Given the description of an element on the screen output the (x, y) to click on. 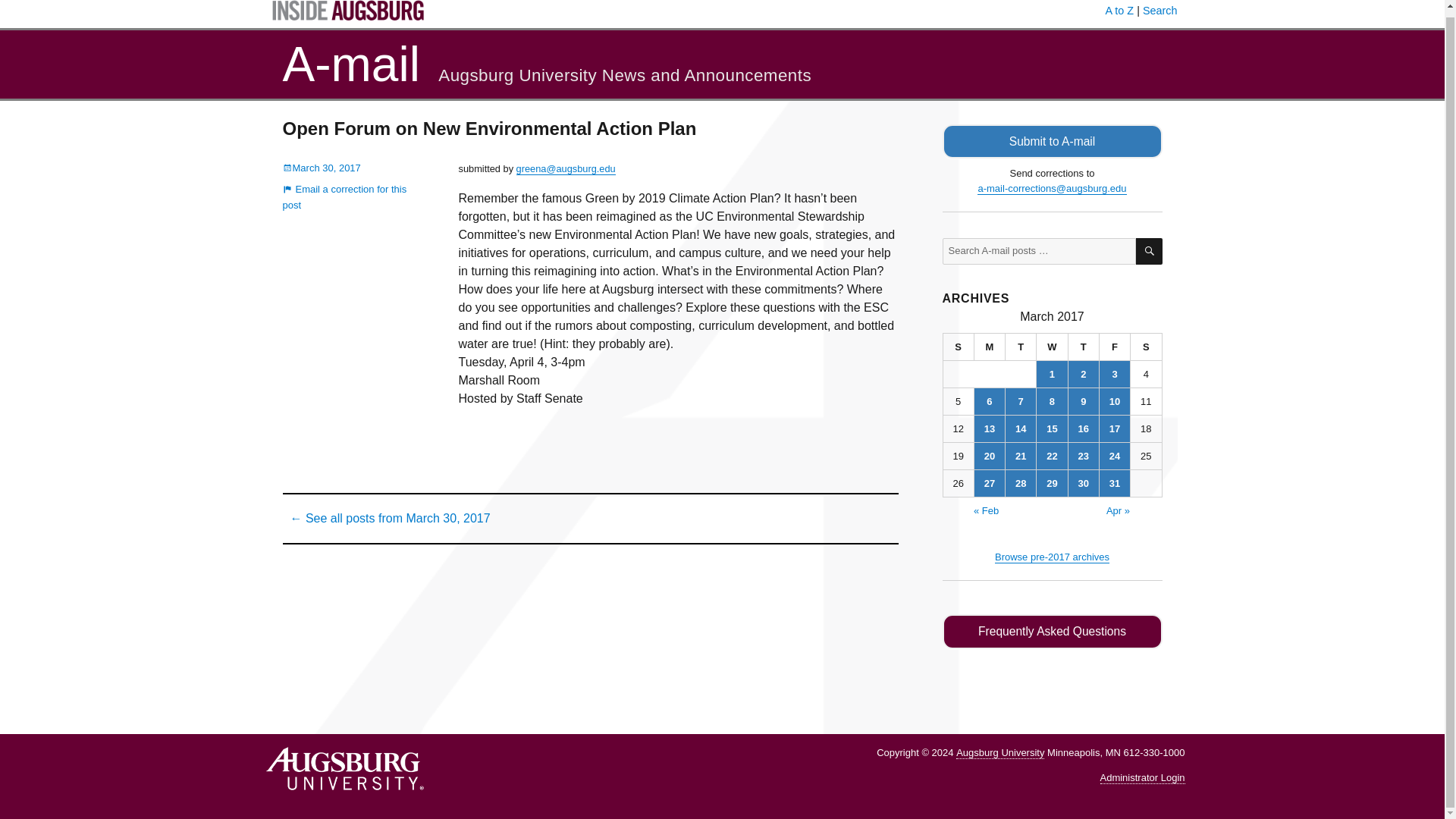
21 (1020, 456)
27 (989, 483)
Sunday (958, 347)
Tuesday (1021, 347)
Search (1159, 10)
9 (1083, 401)
2 (1083, 374)
10 (1114, 401)
15 (1051, 428)
16 (1083, 428)
